Given the description of an element on the screen output the (x, y) to click on. 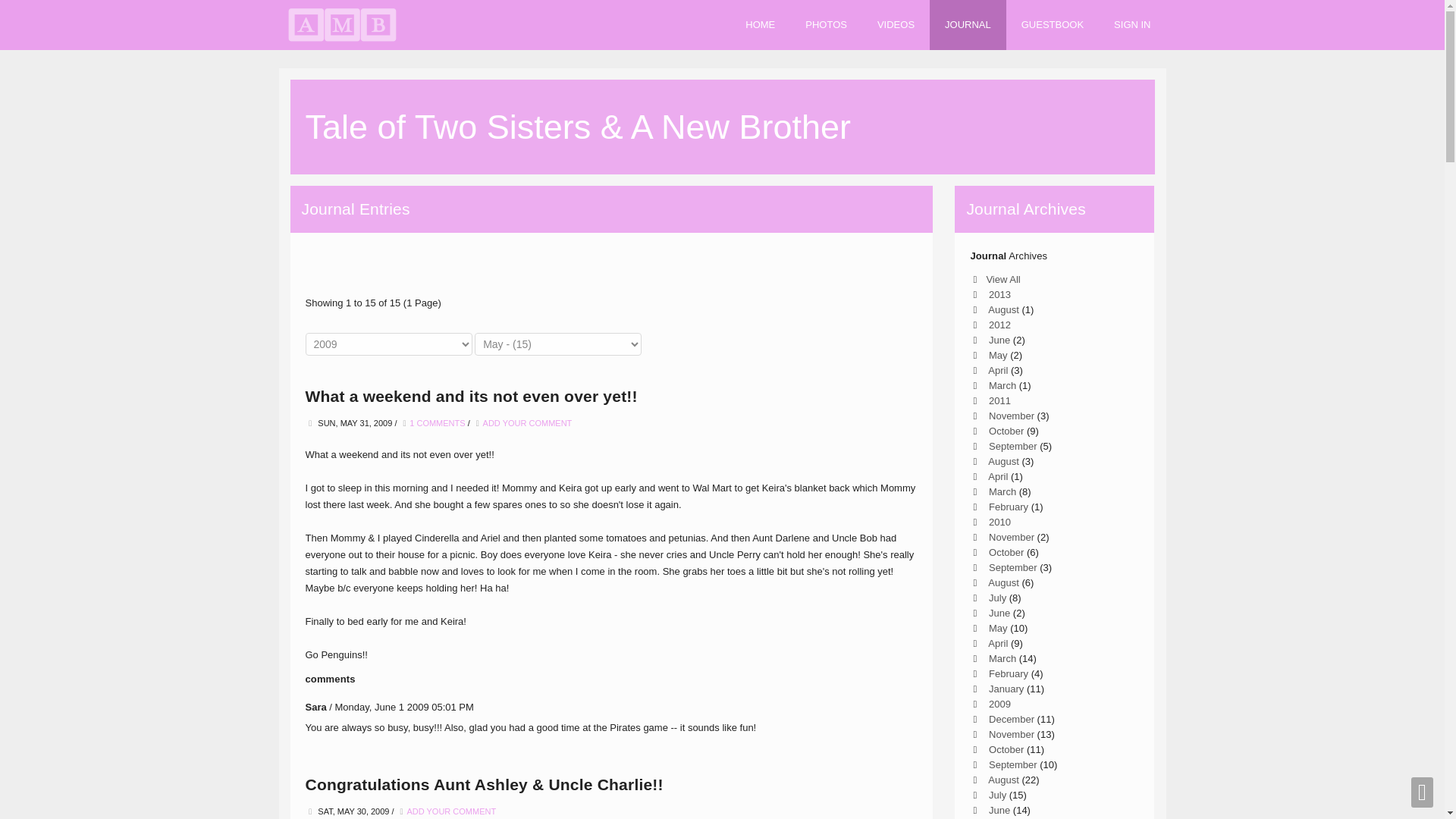
ADD YOUR COMMENT (527, 422)
VIDEOS (895, 24)
1 COMMENTS (436, 422)
PHOTOS (826, 24)
JOURNAL (967, 24)
ADD YOUR COMMENT (451, 810)
SIGN IN (1131, 24)
2013 (997, 294)
HOME (759, 24)
GUESTBOOK (1052, 24)
View All (1002, 279)
